Given the description of an element on the screen output the (x, y) to click on. 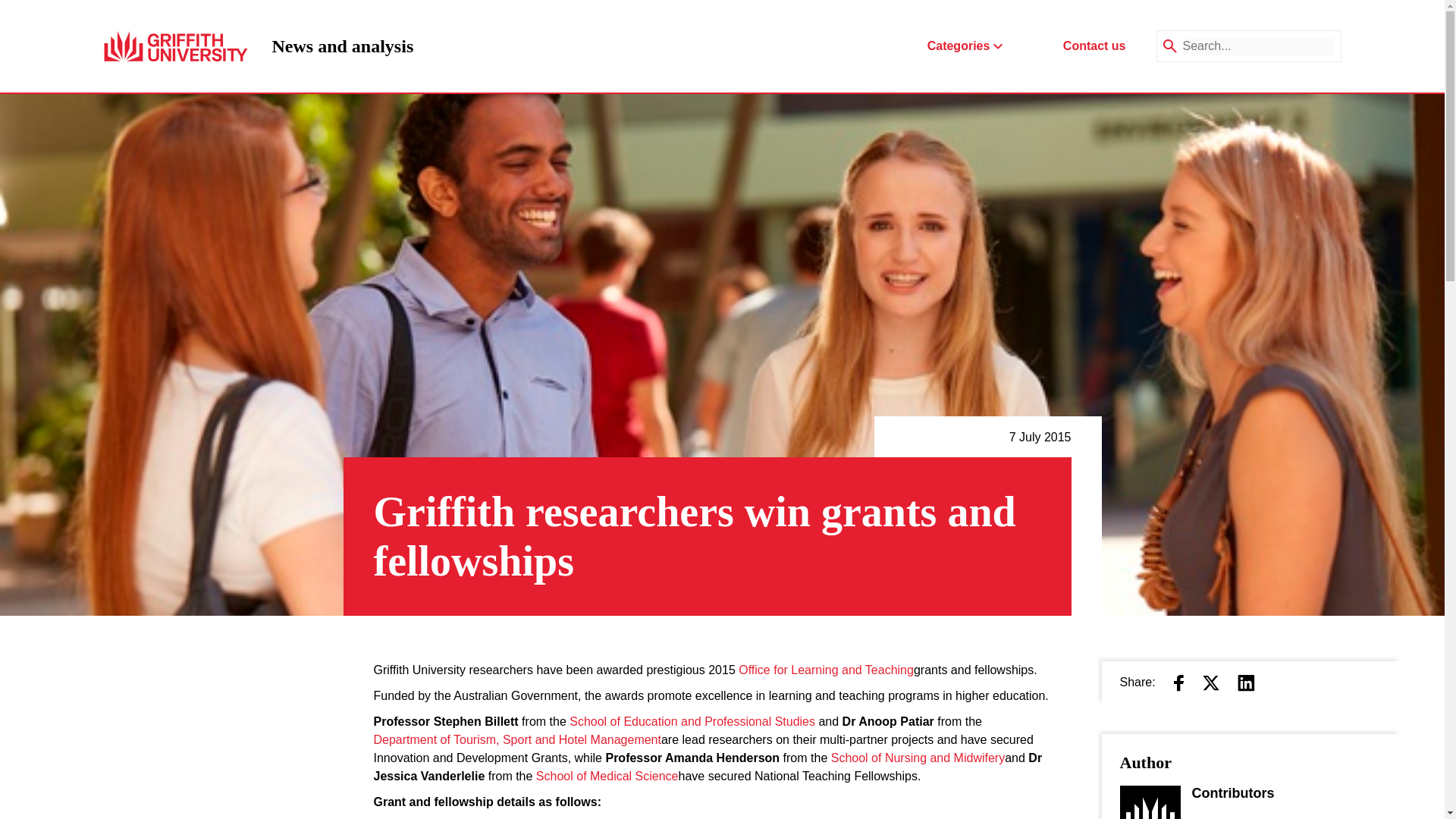
Department of Tourism, Sport and Hotel Management (516, 740)
School of Education and Professional Studies (692, 721)
School of Nursing and Midwifery (917, 758)
Contact us (1093, 45)
Office for Learning and Teaching (826, 669)
School of Medical Science (341, 46)
